Given the description of an element on the screen output the (x, y) to click on. 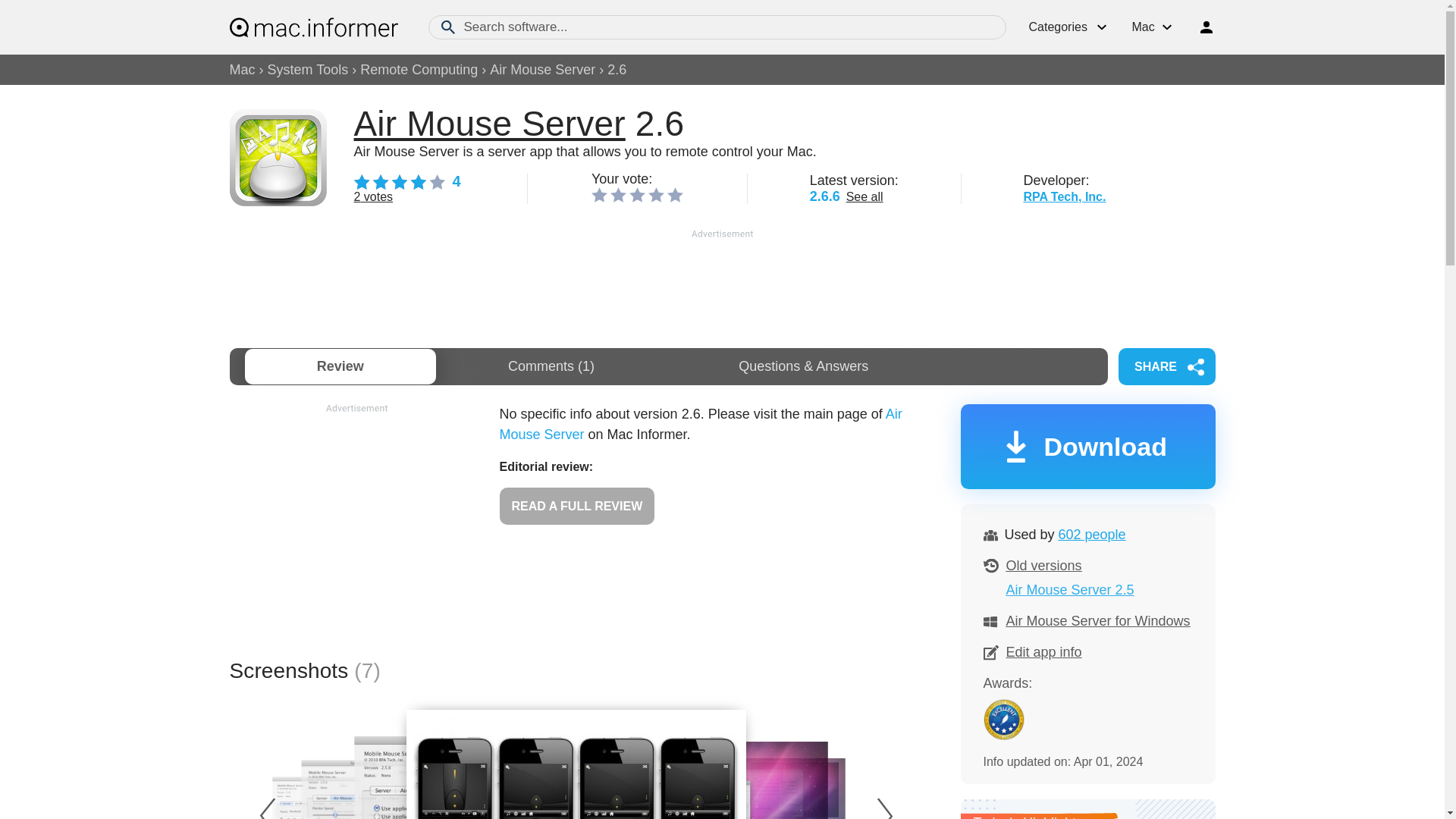
Air Mouse Server for Windows (1097, 620)
2 (617, 193)
5 (674, 193)
Editors' choice award (1002, 719)
Air Mouse Server (542, 69)
Mac (241, 69)
RPA Tech, Inc. (1064, 195)
Old versions (1043, 565)
Search (447, 27)
Review (339, 366)
